Given the description of an element on the screen output the (x, y) to click on. 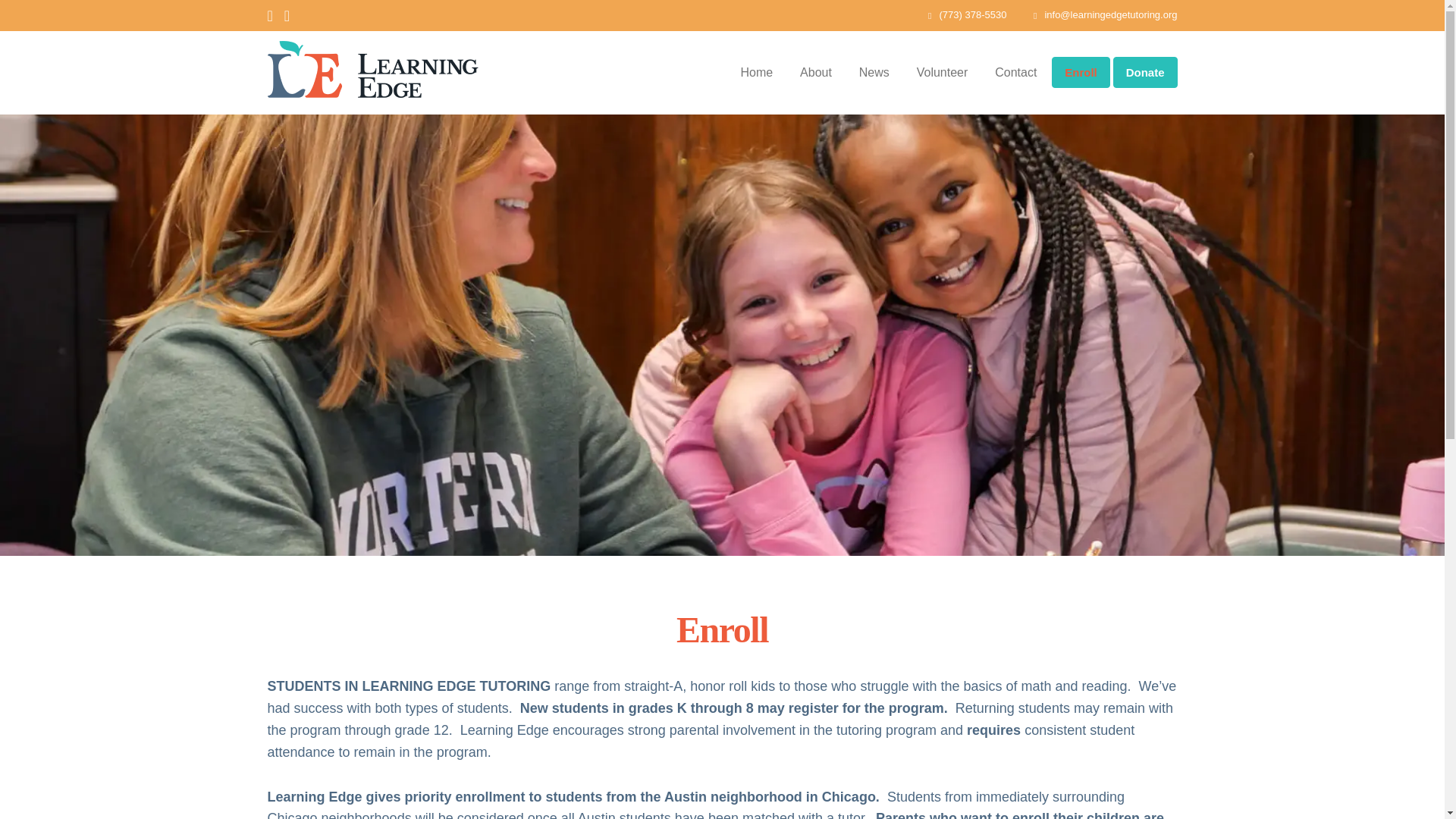
Volunteer (941, 72)
Home (757, 72)
Donate (1145, 71)
About (815, 72)
Enroll (1080, 71)
News (874, 72)
Contact (1015, 72)
